Given the description of an element on the screen output the (x, y) to click on. 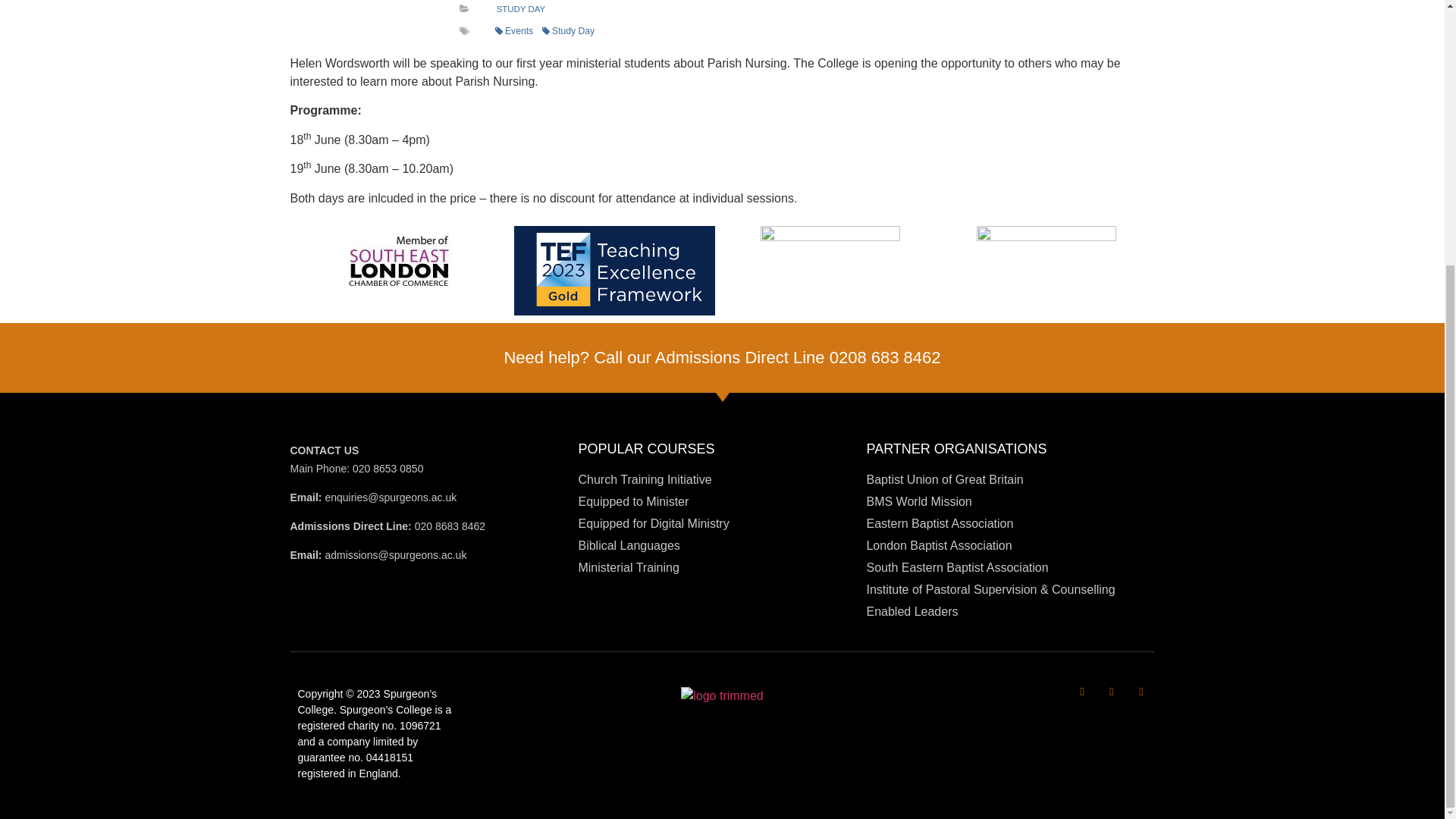
Categories (464, 8)
Tags (464, 31)
logo trimmed (721, 696)
